Given the description of an element on the screen output the (x, y) to click on. 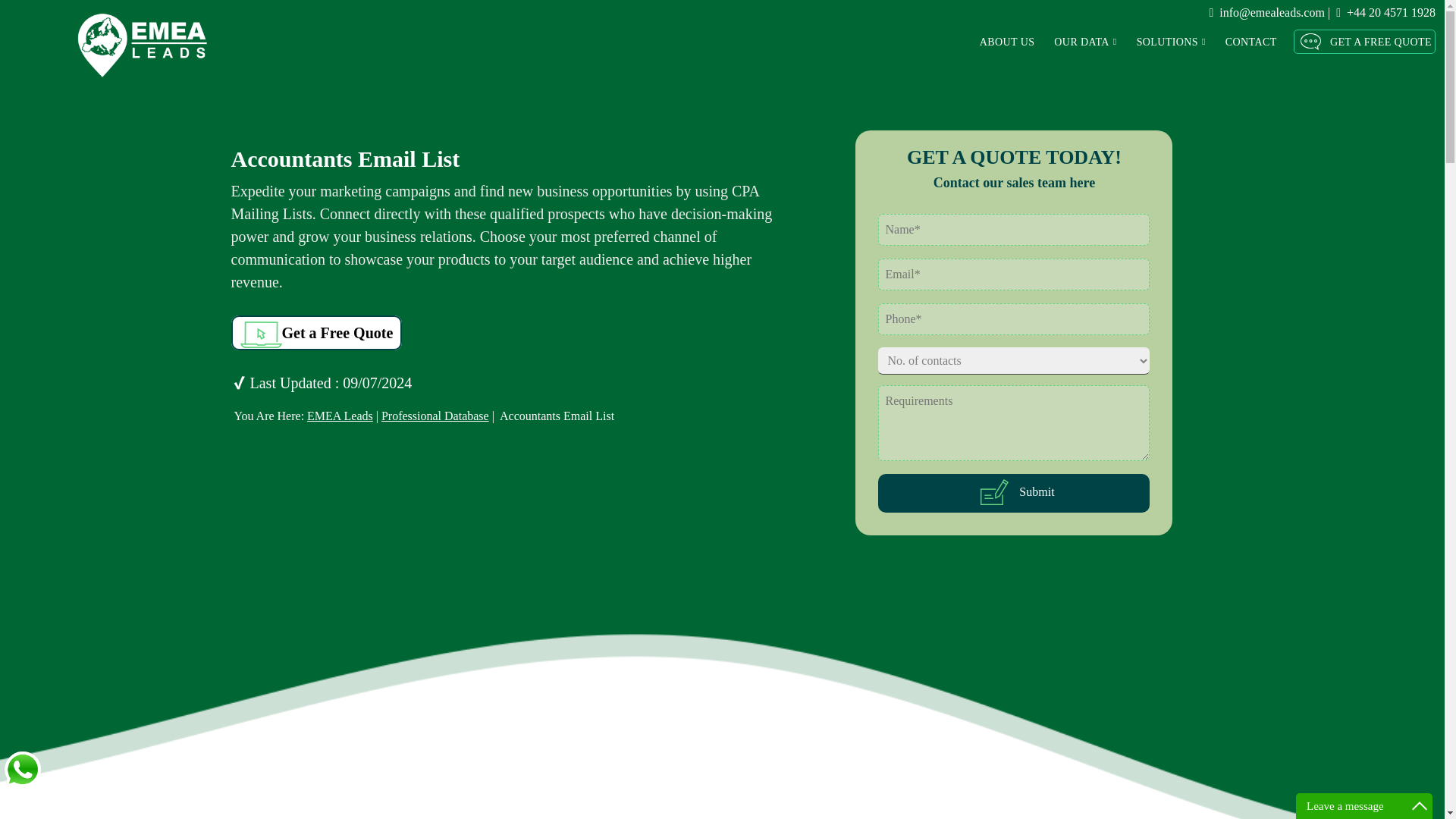
OUR DATA (1077, 41)
  GET A FREE QUOTE (1364, 41)
CONTACT (1251, 41)
ABOUT US (1007, 41)
SOLUTIONS (1163, 41)
OUR DATA (1085, 41)
ABOUT US (1007, 41)
Whatsapp us to get in touch (23, 769)
Maximize (1419, 805)
